Given the description of an element on the screen output the (x, y) to click on. 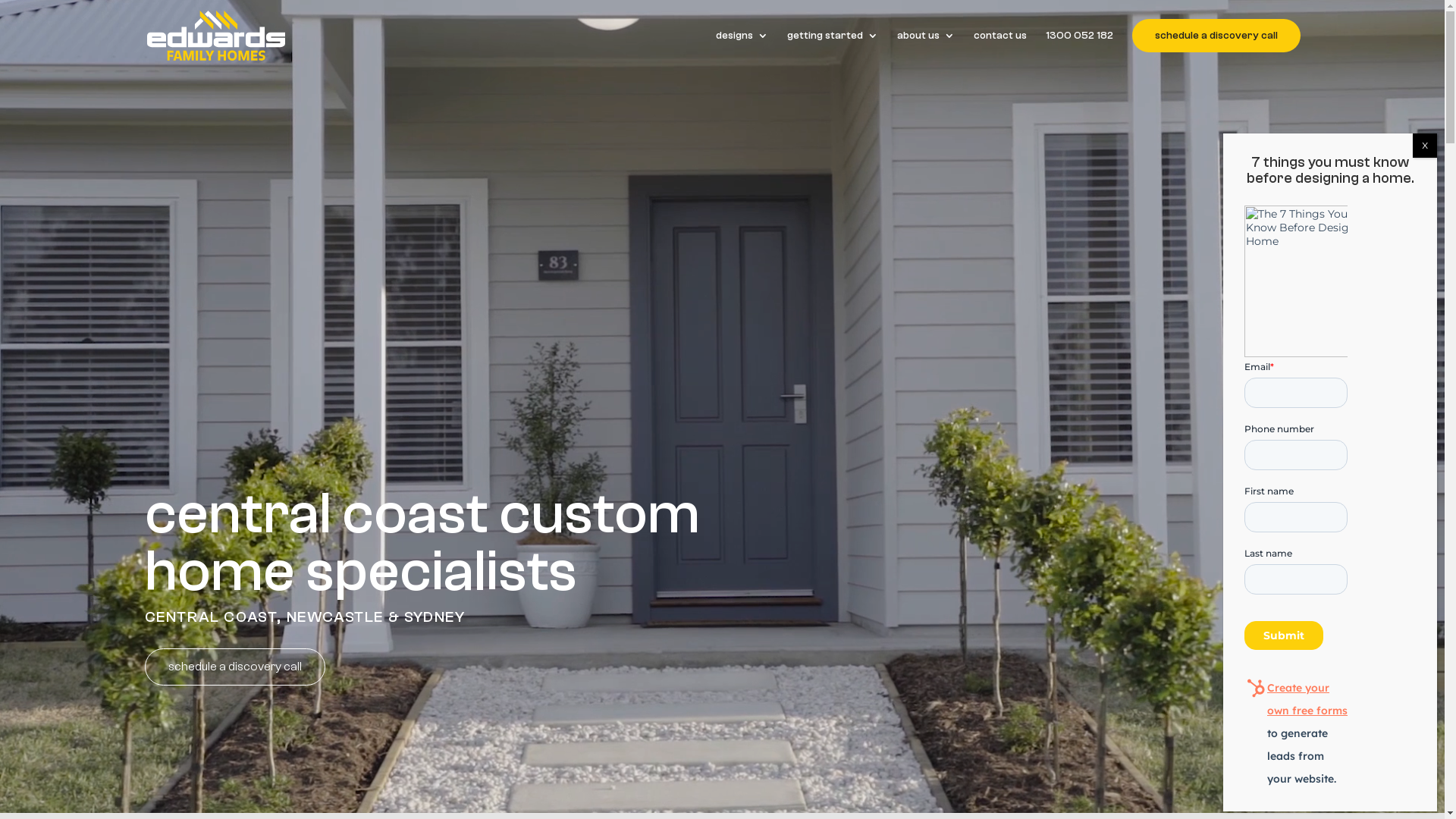
1300 052 182 Element type: text (1078, 35)
Form 0 Element type: hover (1329, 497)
about us Element type: text (924, 35)
X Element type: text (1424, 145)
contact us Element type: text (999, 35)
schedule a discovery call Element type: text (1215, 35)
getting started Element type: text (832, 35)
schedule a discovery call Element type: text (234, 666)
designs Element type: text (741, 35)
